Given the description of an element on the screen output the (x, y) to click on. 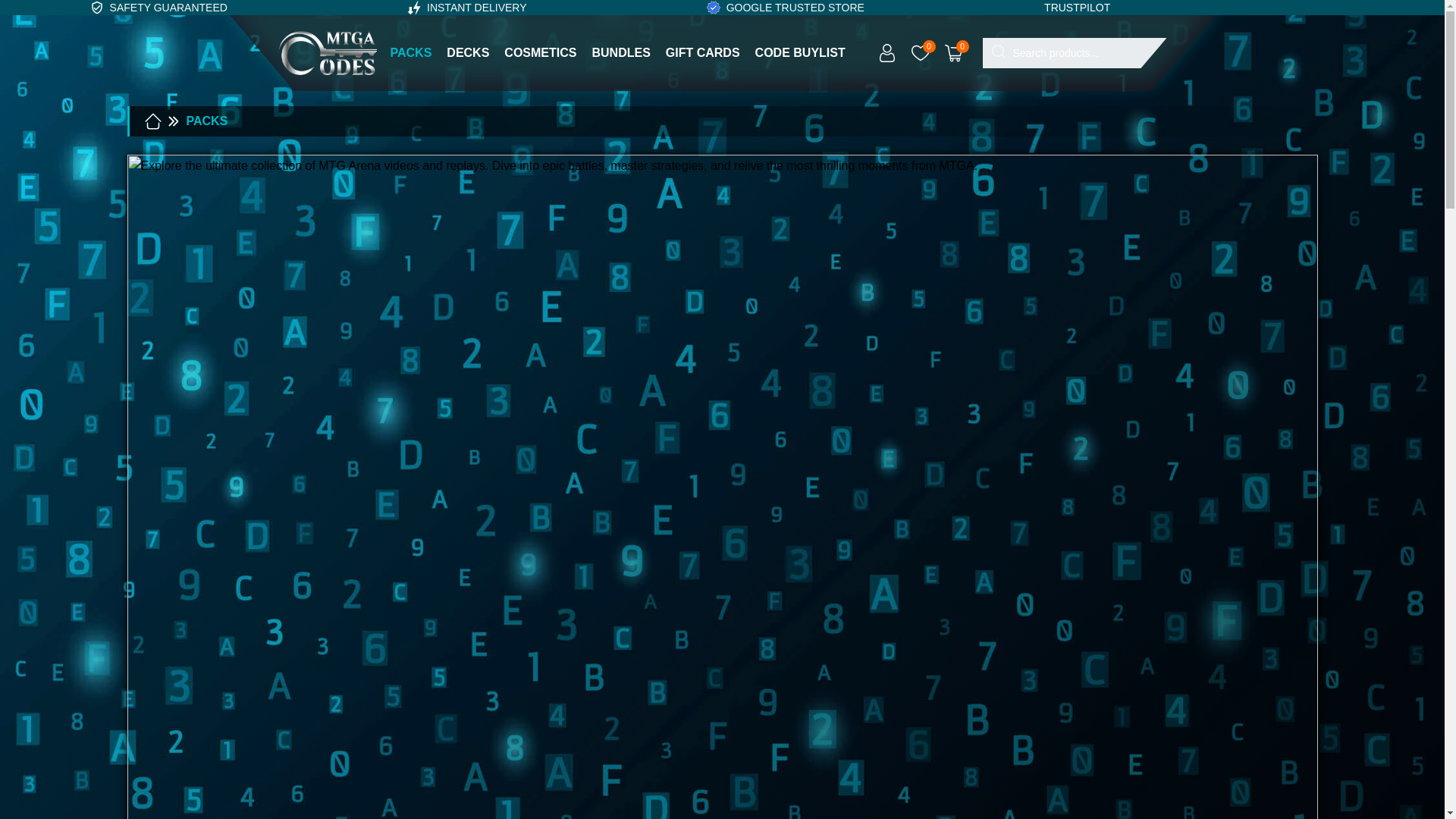
Shopping Cart (954, 52)
CODE BUYLIST (800, 52)
COSMETICS (539, 52)
BUNDLES (620, 52)
Login (887, 52)
TRUSTPILOT (1076, 7)
GIFT CARDS (703, 52)
Wishlist (920, 52)
0 (954, 52)
0 (920, 52)
